Given the description of an element on the screen output the (x, y) to click on. 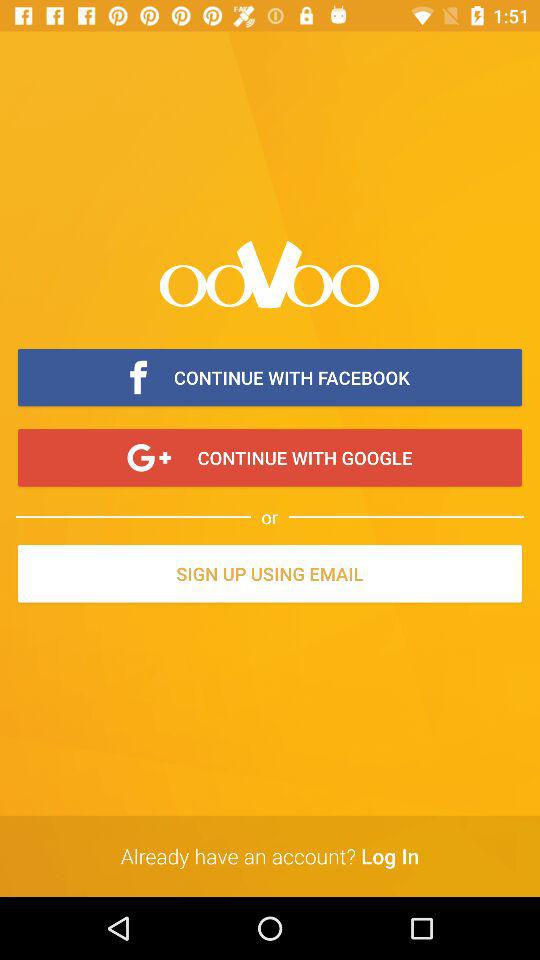
jump until the sign up using item (269, 575)
